Given the description of an element on the screen output the (x, y) to click on. 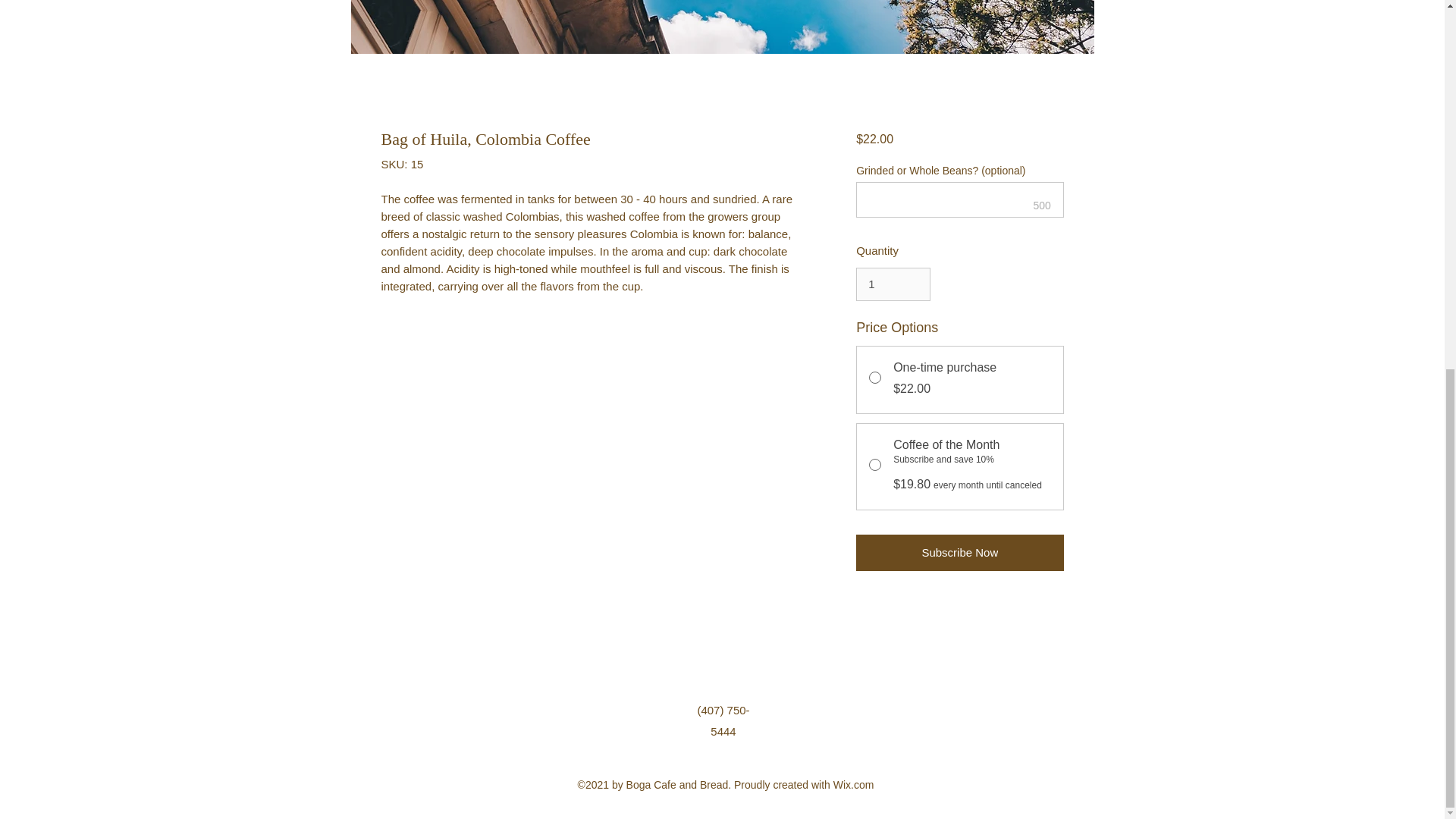
1 (893, 284)
Subscribe Now (959, 552)
